Given the description of an element on the screen output the (x, y) to click on. 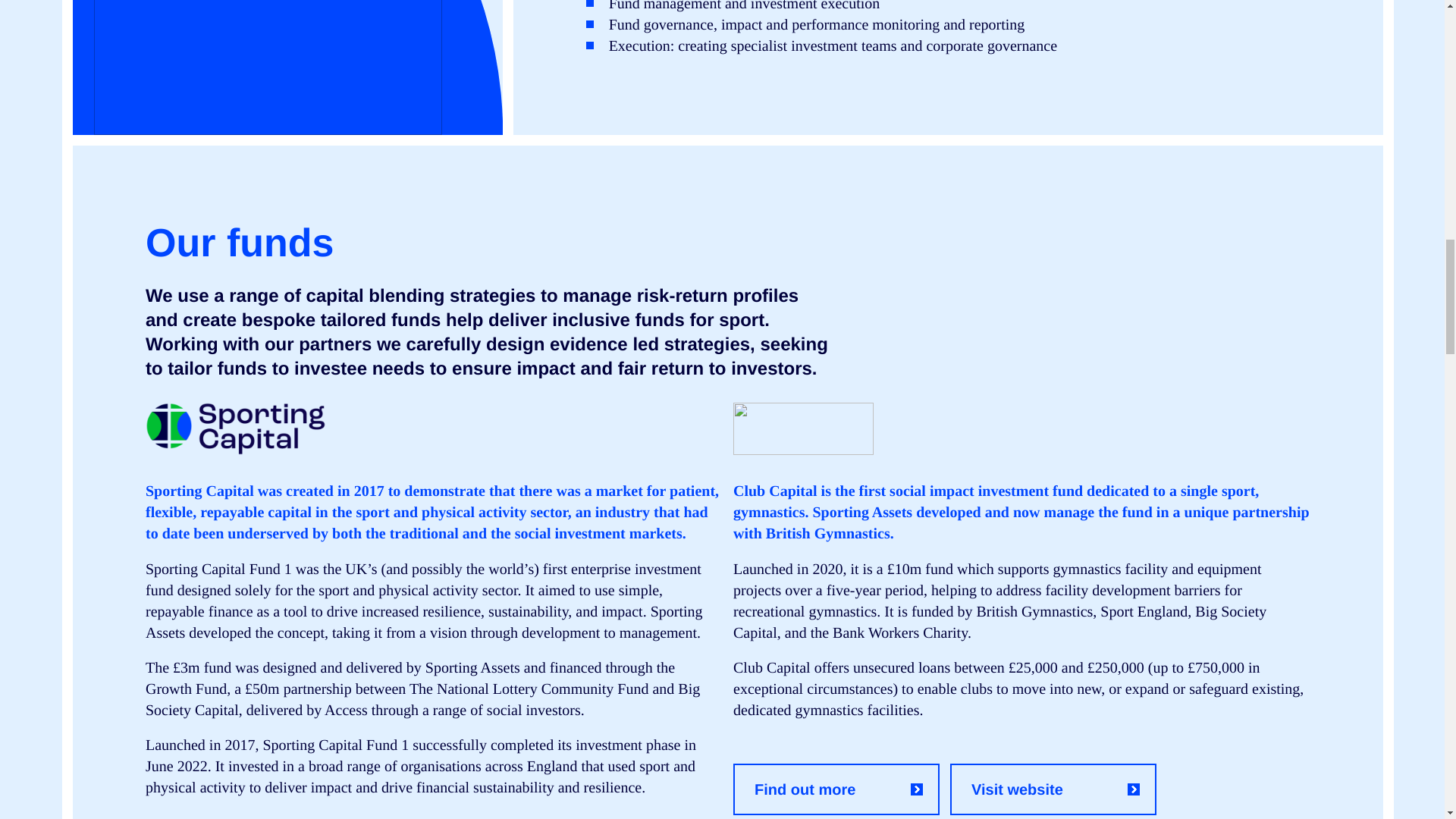
Visit website (1053, 788)
Find out more (836, 788)
